Given the description of an element on the screen output the (x, y) to click on. 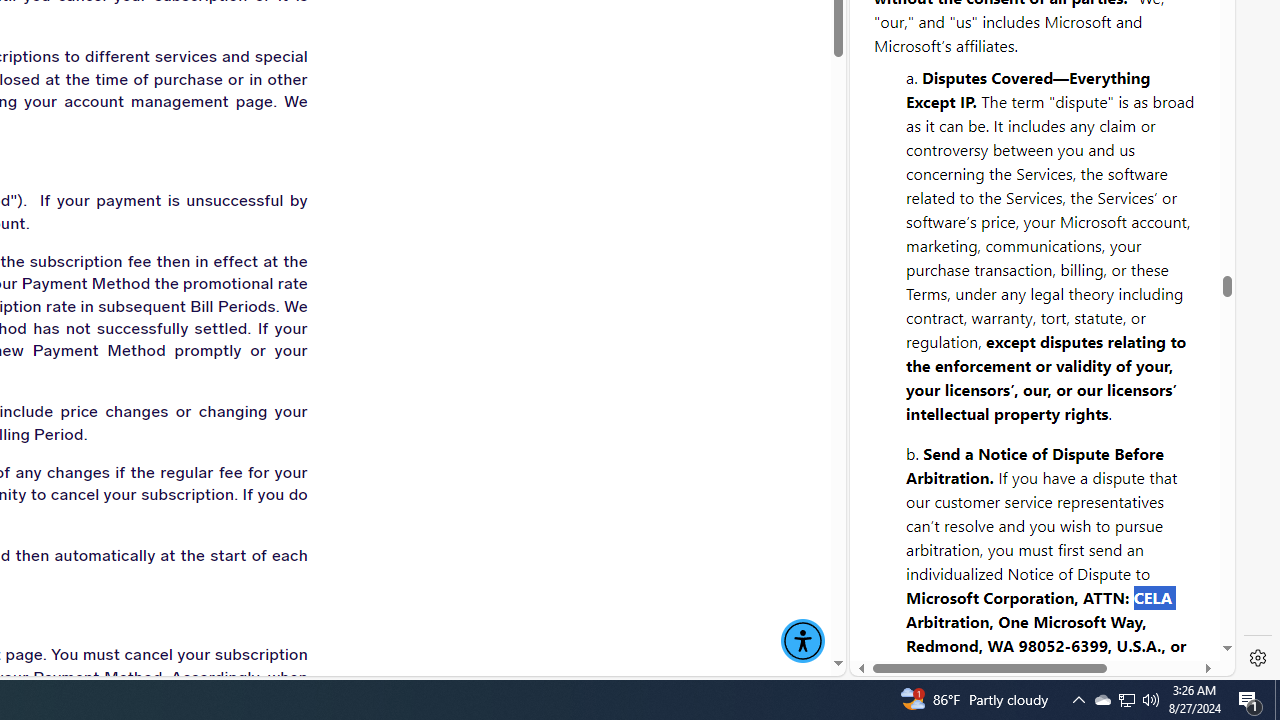
Open in New Tab (1042, 631)
Accessibility Menu (802, 641)
